Given the description of an element on the screen output the (x, y) to click on. 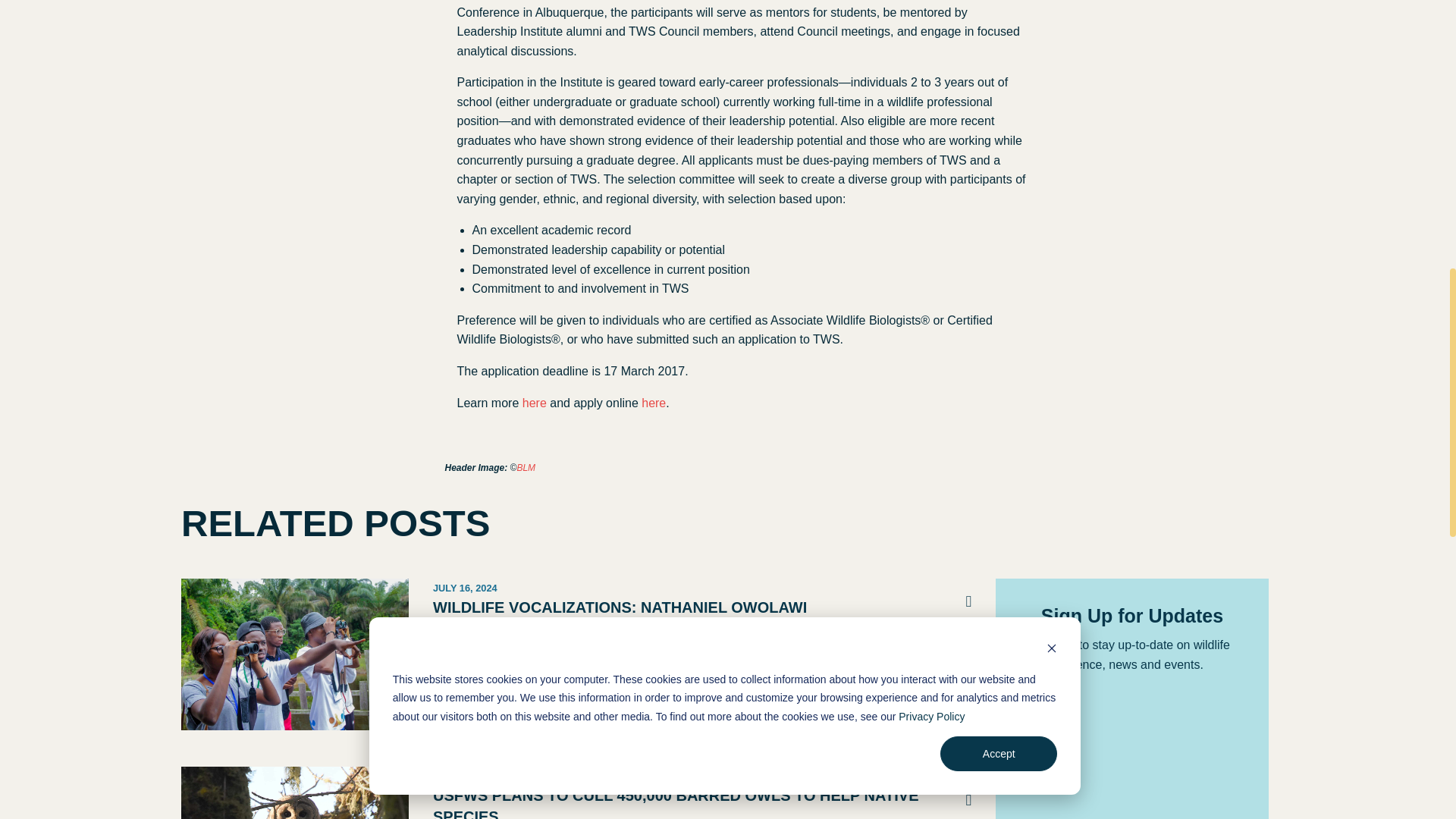
Form 0 (1132, 752)
